Given the description of an element on the screen output the (x, y) to click on. 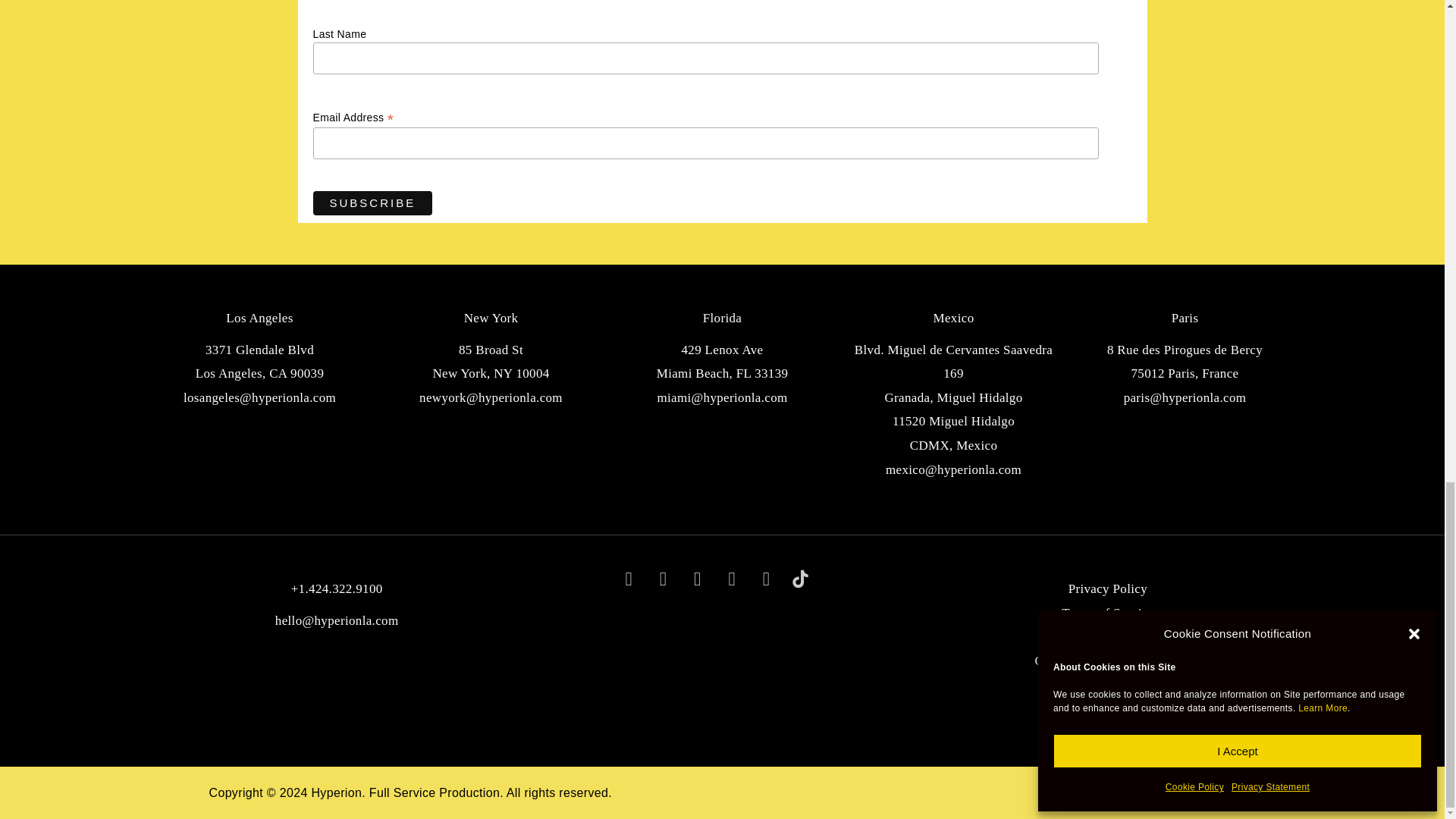
Subscribe (372, 202)
